Given the description of an element on the screen output the (x, y) to click on. 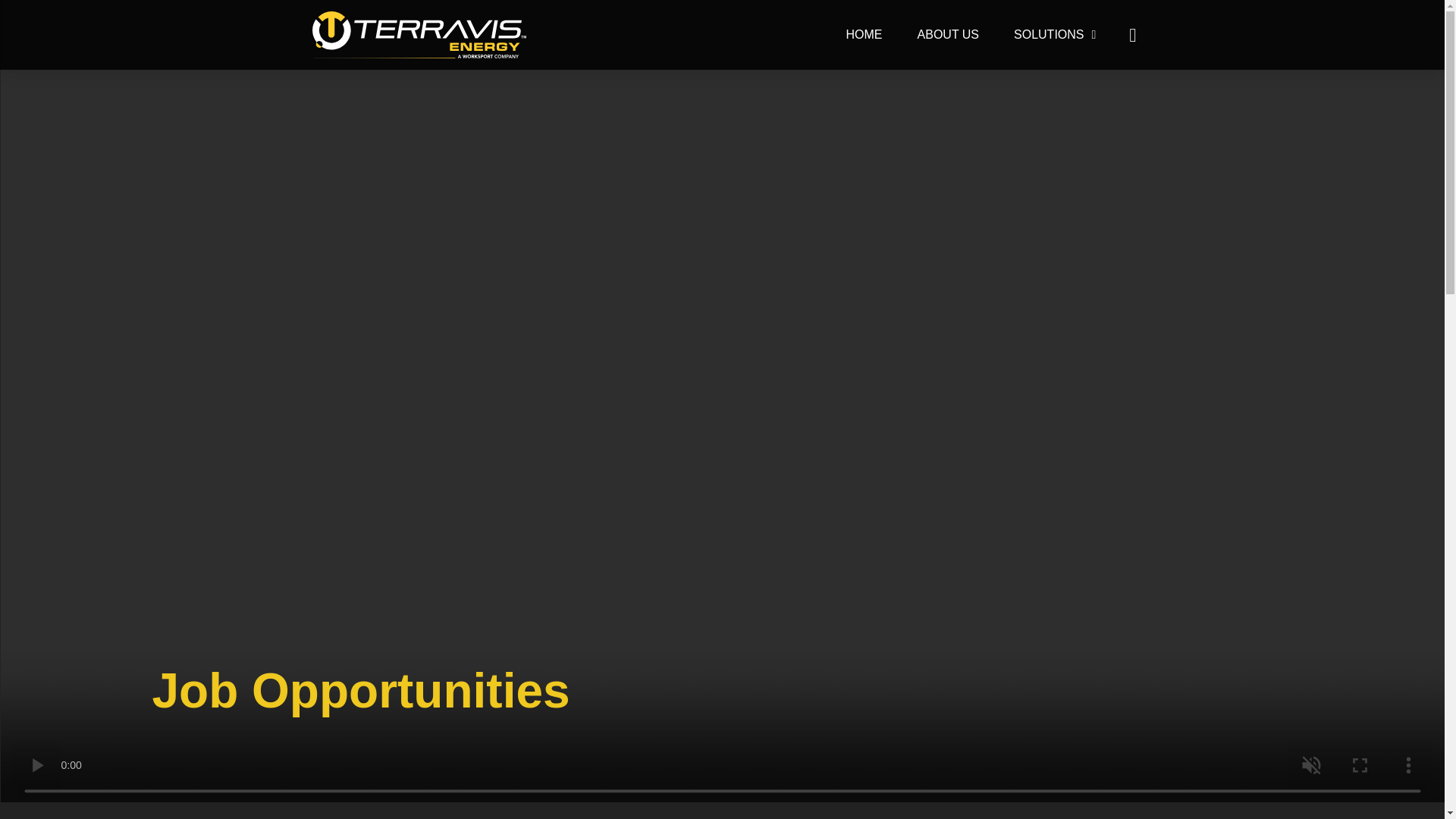
SOLUTIONS (1054, 34)
HOME (864, 34)
ABOUT US (948, 34)
